Given the description of an element on the screen output the (x, y) to click on. 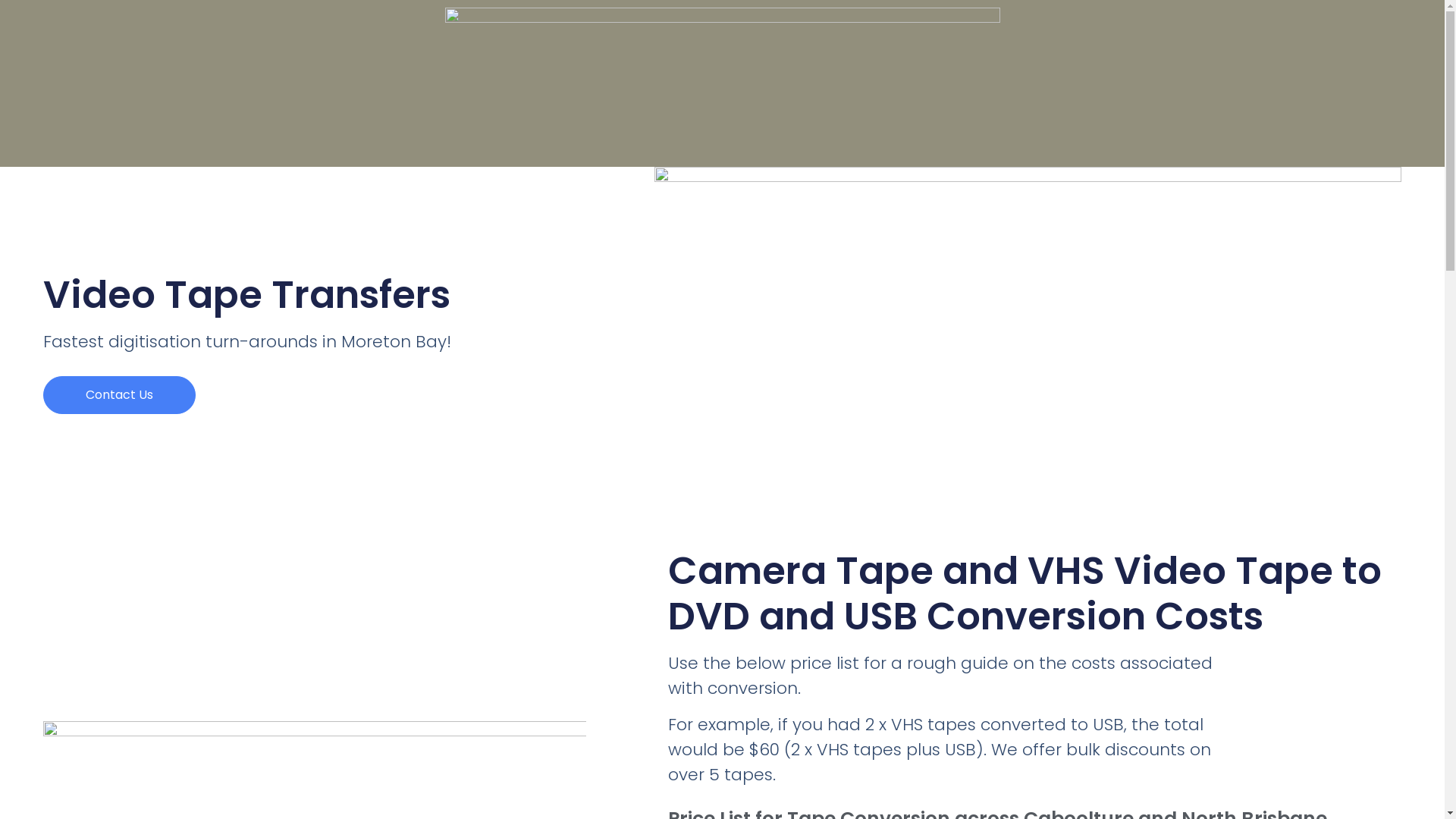
Contact Us Element type: text (119, 395)
